Given the description of an element on the screen output the (x, y) to click on. 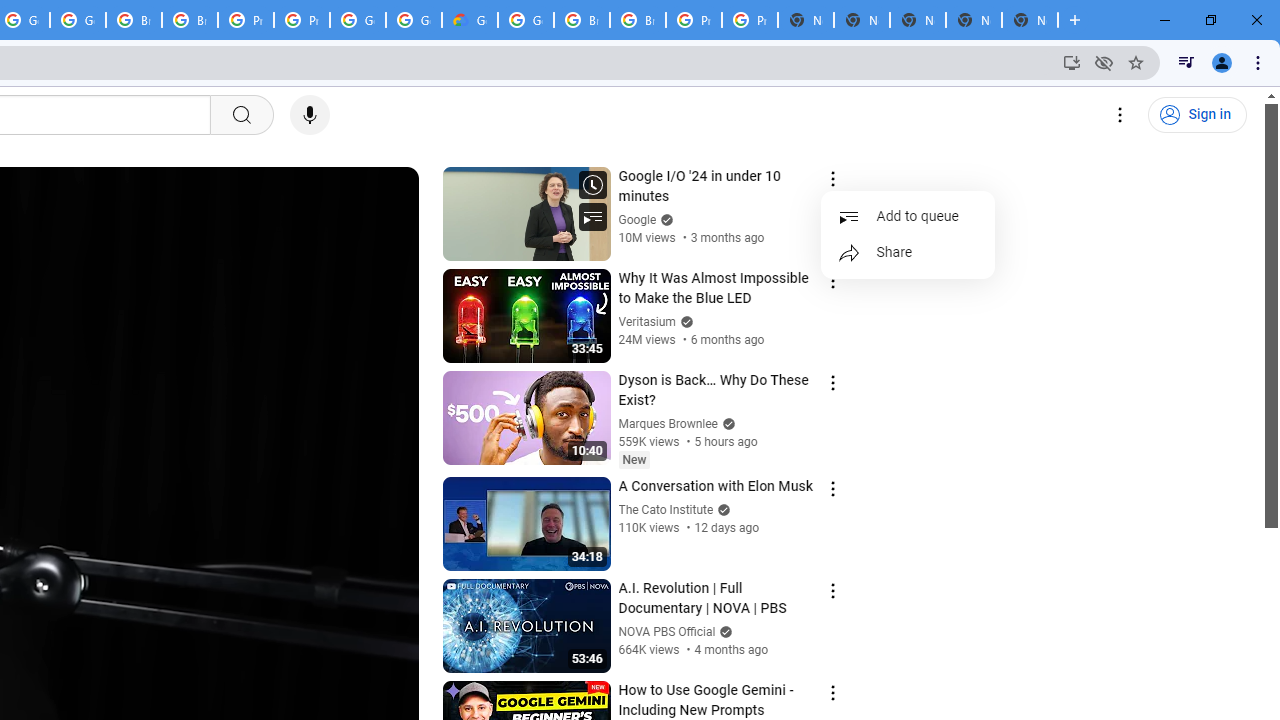
Browse Chrome as a guest - Computer - Google Chrome Help (189, 20)
Verified (724, 631)
Add to queue (907, 216)
Action menu (832, 692)
Install YouTube (1071, 62)
Share (907, 252)
Add to queue (907, 216)
